Given the description of an element on the screen output the (x, y) to click on. 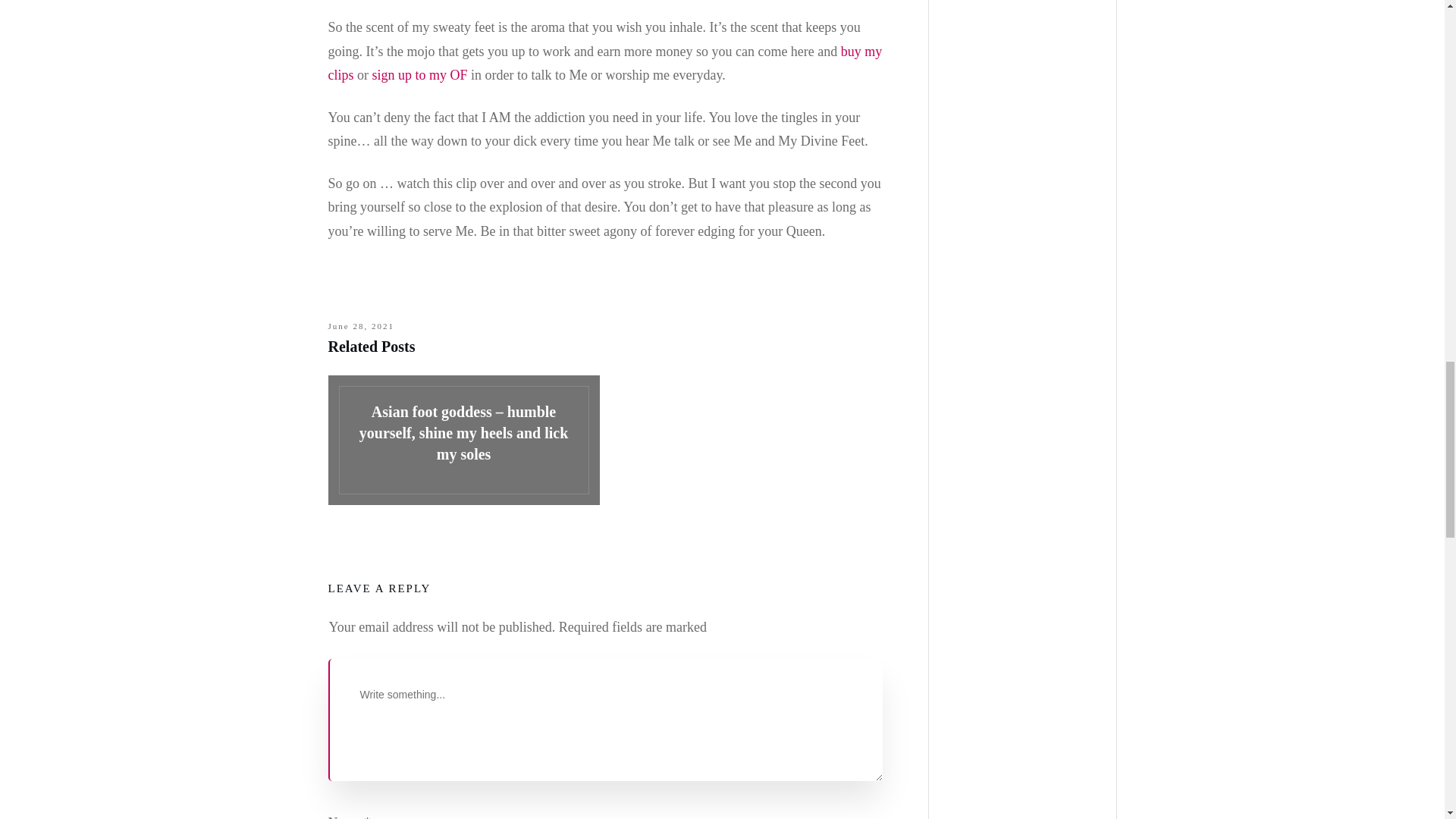
buy my clips (604, 63)
sign up to my OF (419, 74)
